Given the description of an element on the screen output the (x, y) to click on. 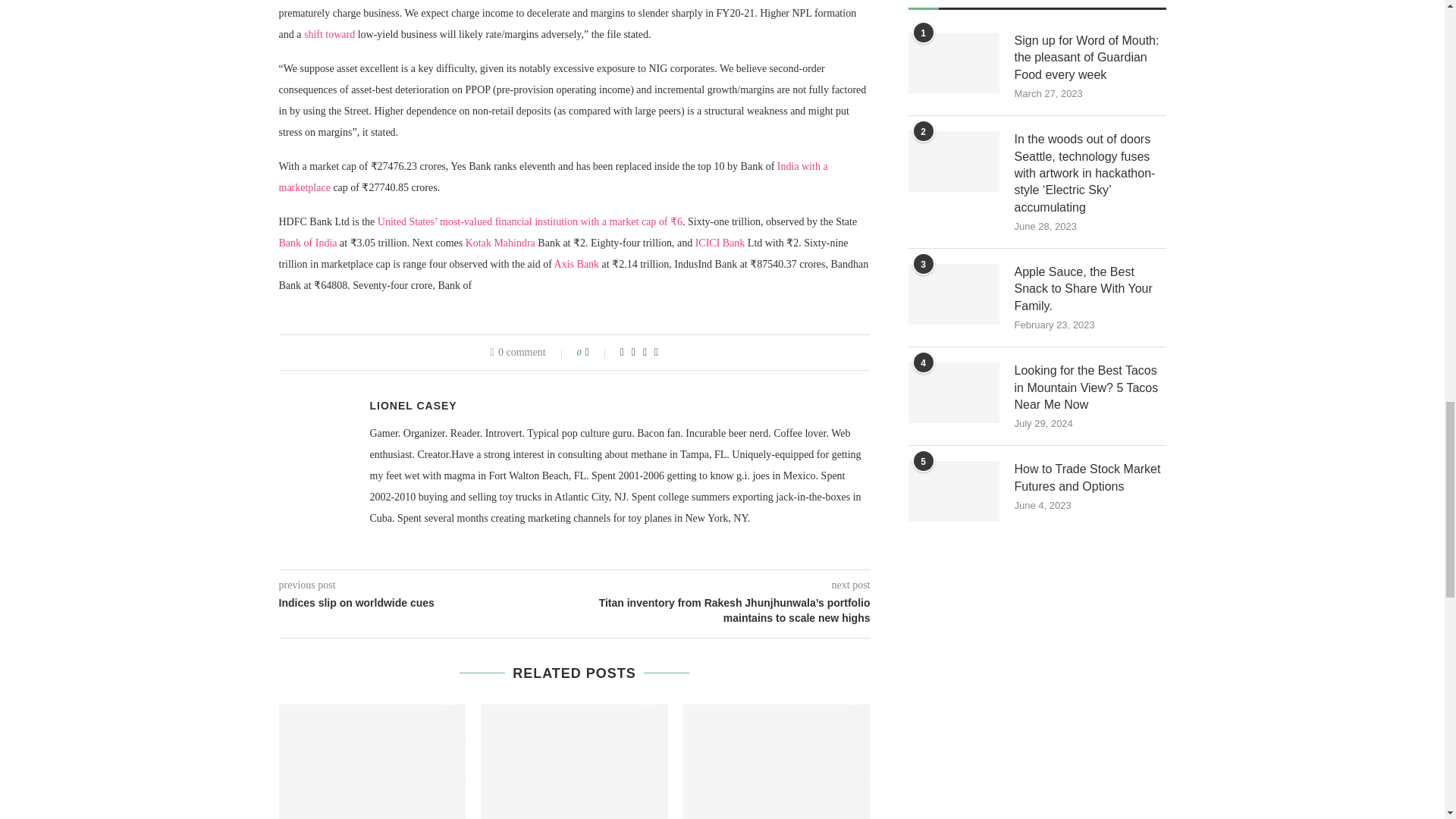
Indices slip on worldwide cues (776, 761)
Like (597, 352)
Broadcom Stock at Resistance Ahead of Earnings (574, 761)
Posts by Lionel Casey (413, 405)
Metal stocks elevate Sensex 166 factors higher (372, 761)
